Given the description of an element on the screen output the (x, y) to click on. 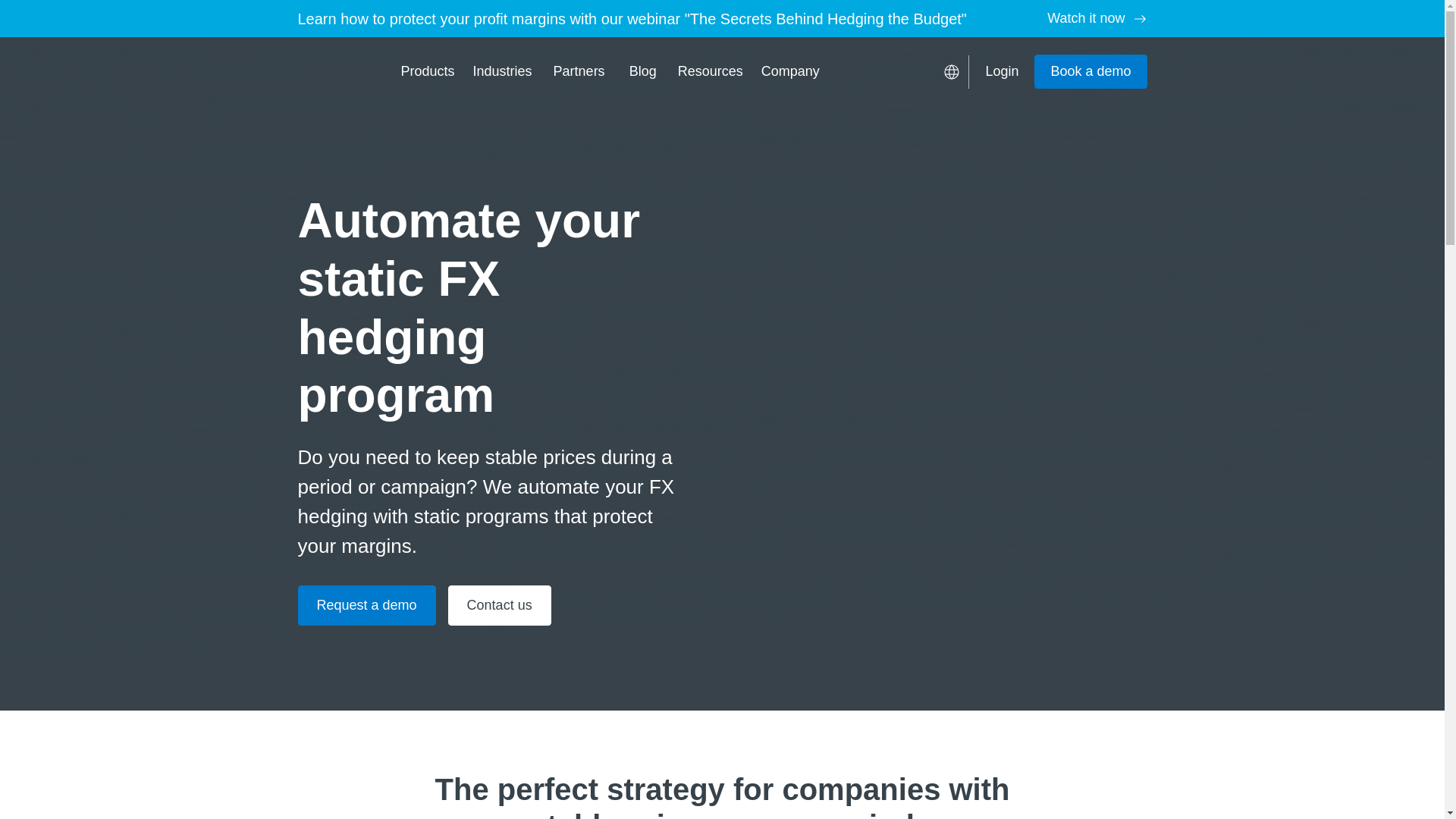
Login (1001, 71)
Contact us (499, 605)
Partners (579, 71)
Request a demo (366, 605)
Blog (642, 71)
Book a demo (1090, 71)
Watch it now (1096, 18)
